Given the description of an element on the screen output the (x, y) to click on. 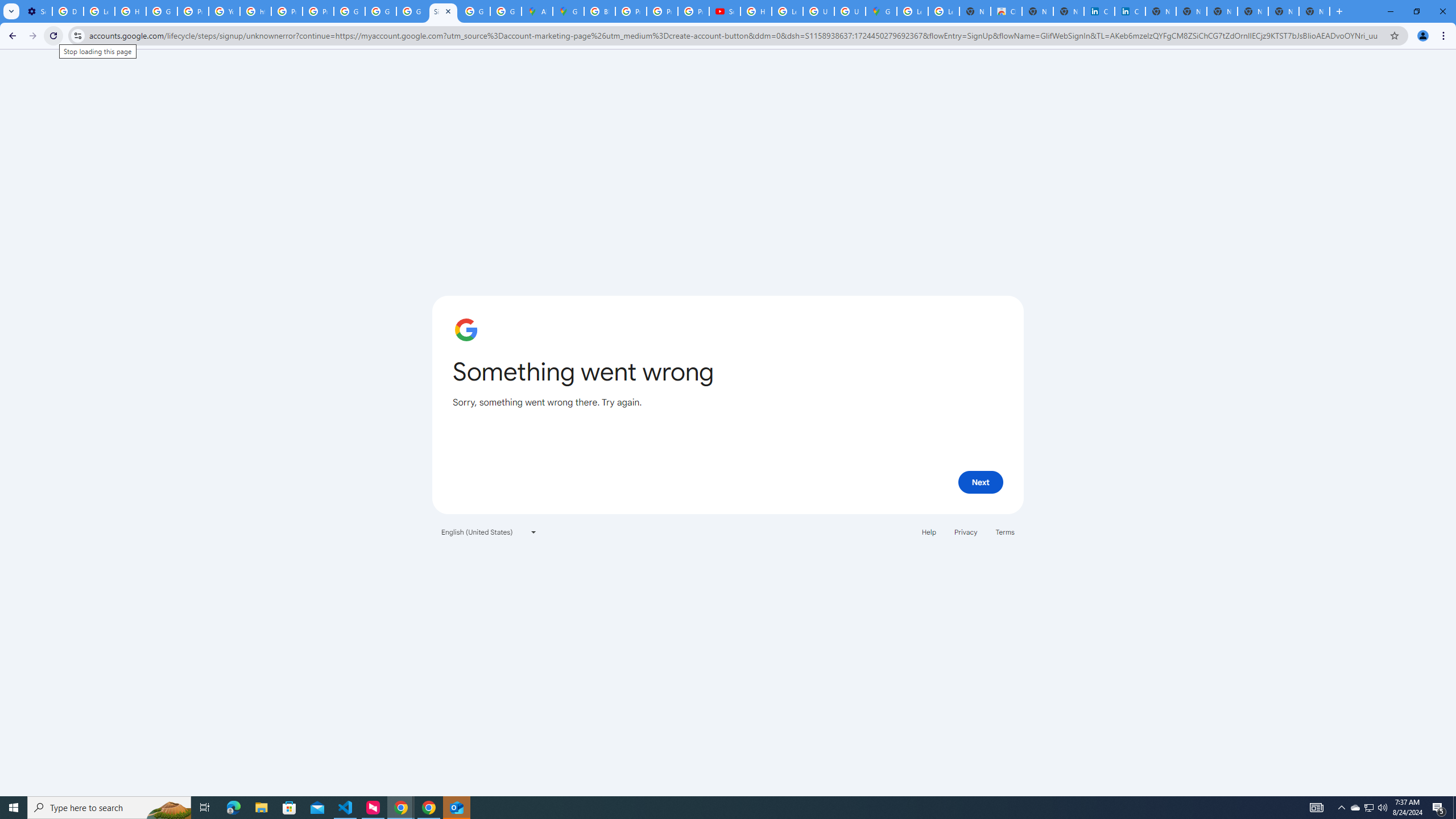
Privacy Help Center - Policies Help (662, 11)
New Tab (1314, 11)
YouTube (223, 11)
Cookie Policy | LinkedIn (1129, 11)
Chrome Web Store (1005, 11)
